Given the description of an element on the screen output the (x, y) to click on. 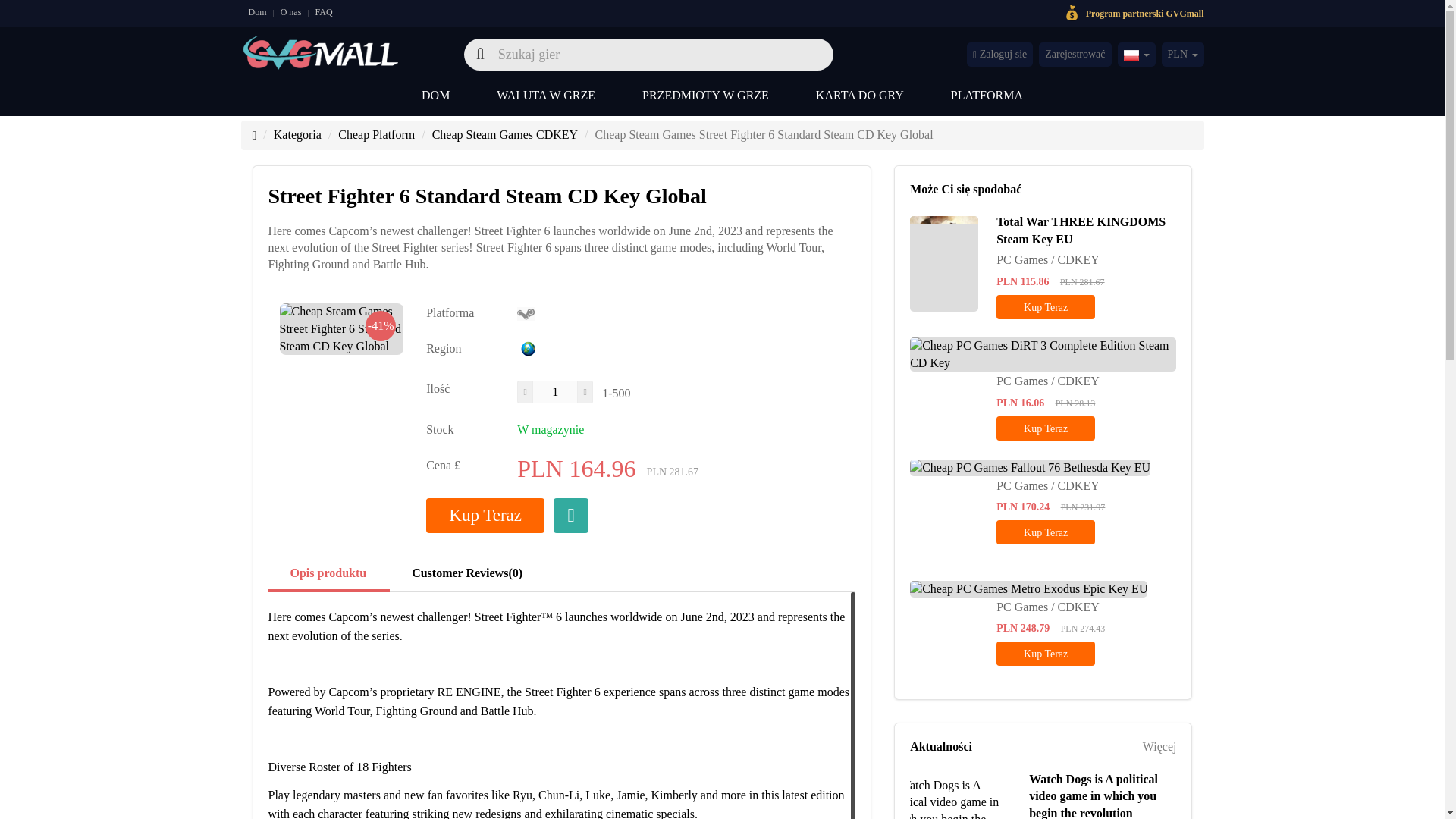
Cheap PC Games  DiRT 3 Complete Edition Steam CD Key (1043, 354)
Worldwide (528, 348)
Program partnerski GVGmall (1145, 11)
1 (555, 391)
WALUTA W GRZE (545, 98)
GVGMall (320, 49)
Zaloguj sie (999, 54)
DOM (434, 98)
Cheap PC Games  Metro Exodus Epic Key EU (1028, 589)
